Given the description of an element on the screen output the (x, y) to click on. 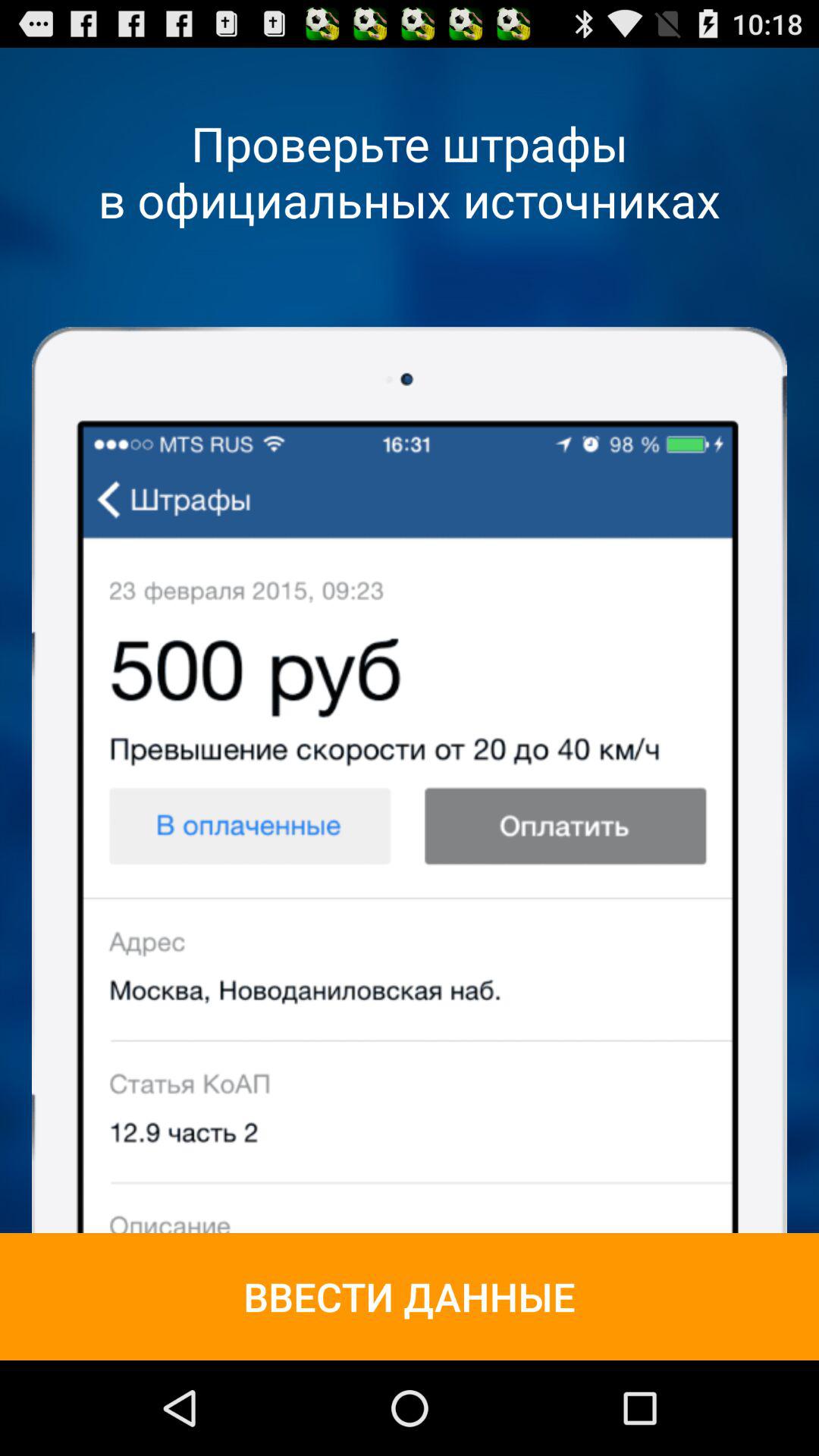
select icon at the bottom (409, 1296)
